Given the description of an element on the screen output the (x, y) to click on. 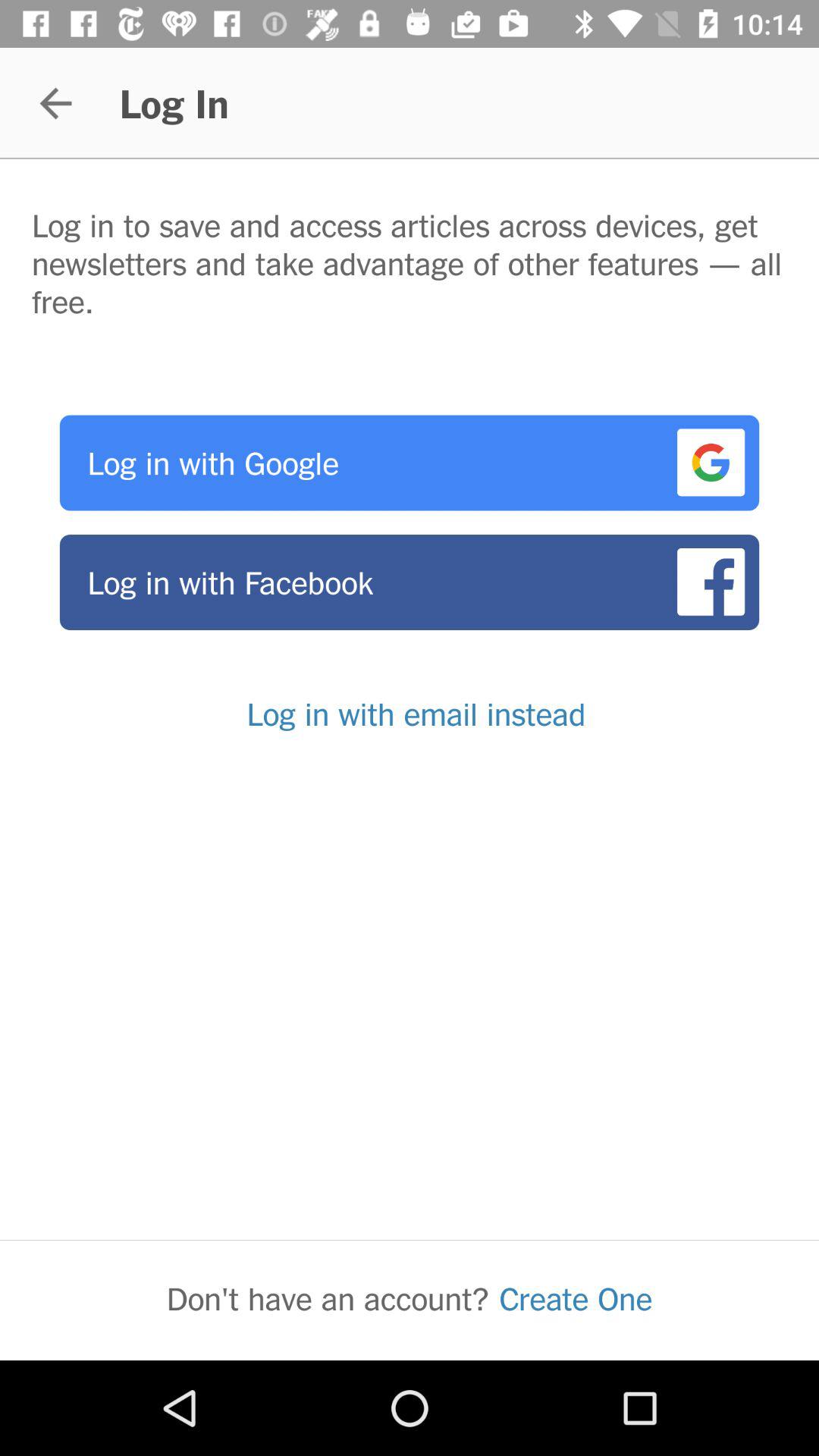
scroll until the create one (575, 1298)
